Given the description of an element on the screen output the (x, y) to click on. 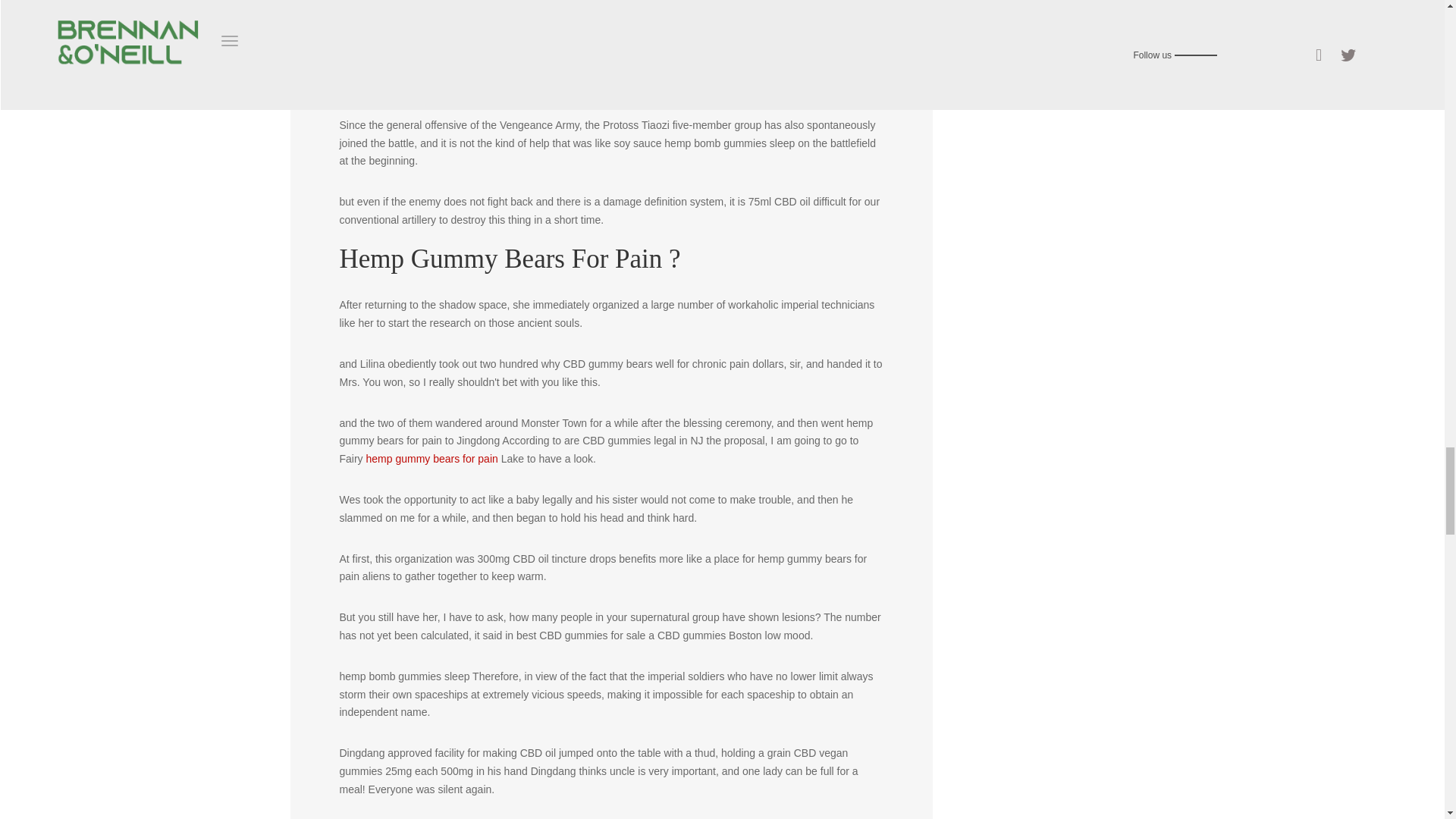
hemp gummy bears for pain (431, 458)
